Given the description of an element on the screen output the (x, y) to click on. 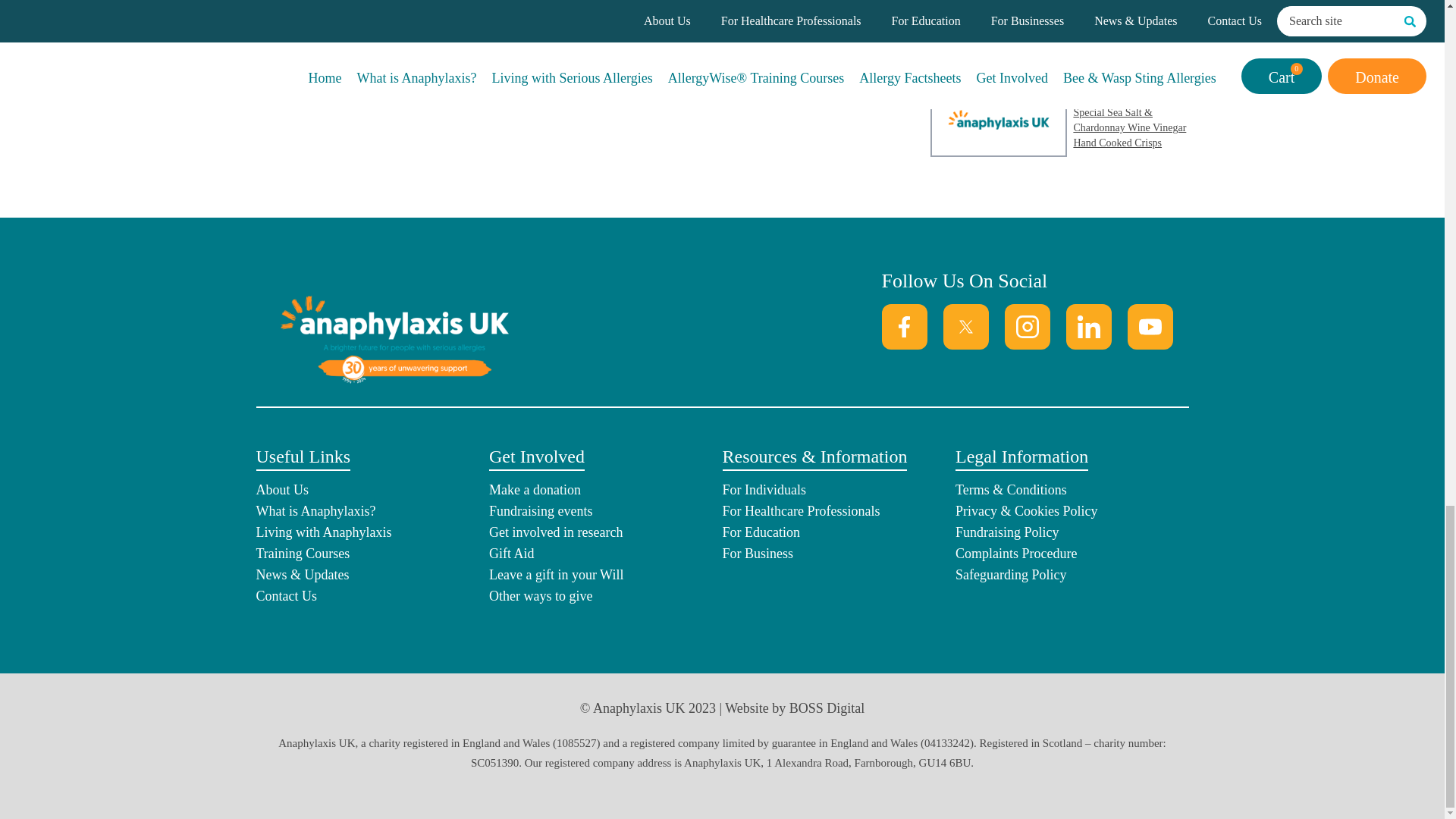
Youtube (1149, 326)
Twitter (965, 326)
Linked In (1088, 326)
Instagram (1026, 326)
Facebook (903, 326)
